Given the description of an element on the screen output the (x, y) to click on. 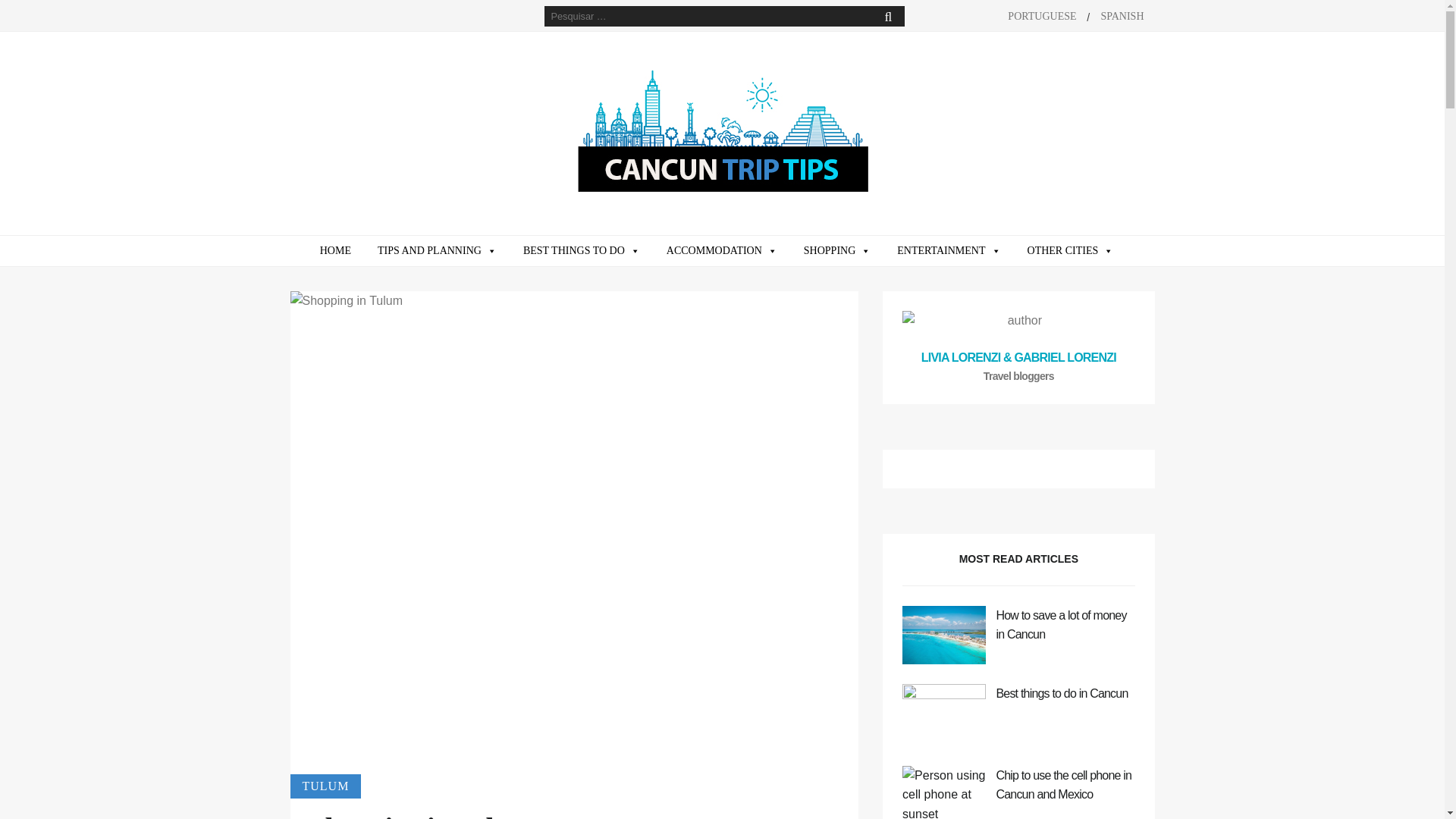
TIPS AND PLANNING (436, 250)
SPANISH (1121, 17)
PORTUGUESE (1041, 17)
HOME (335, 250)
BEST THINGS TO DO (581, 250)
